Given the description of an element on the screen output the (x, y) to click on. 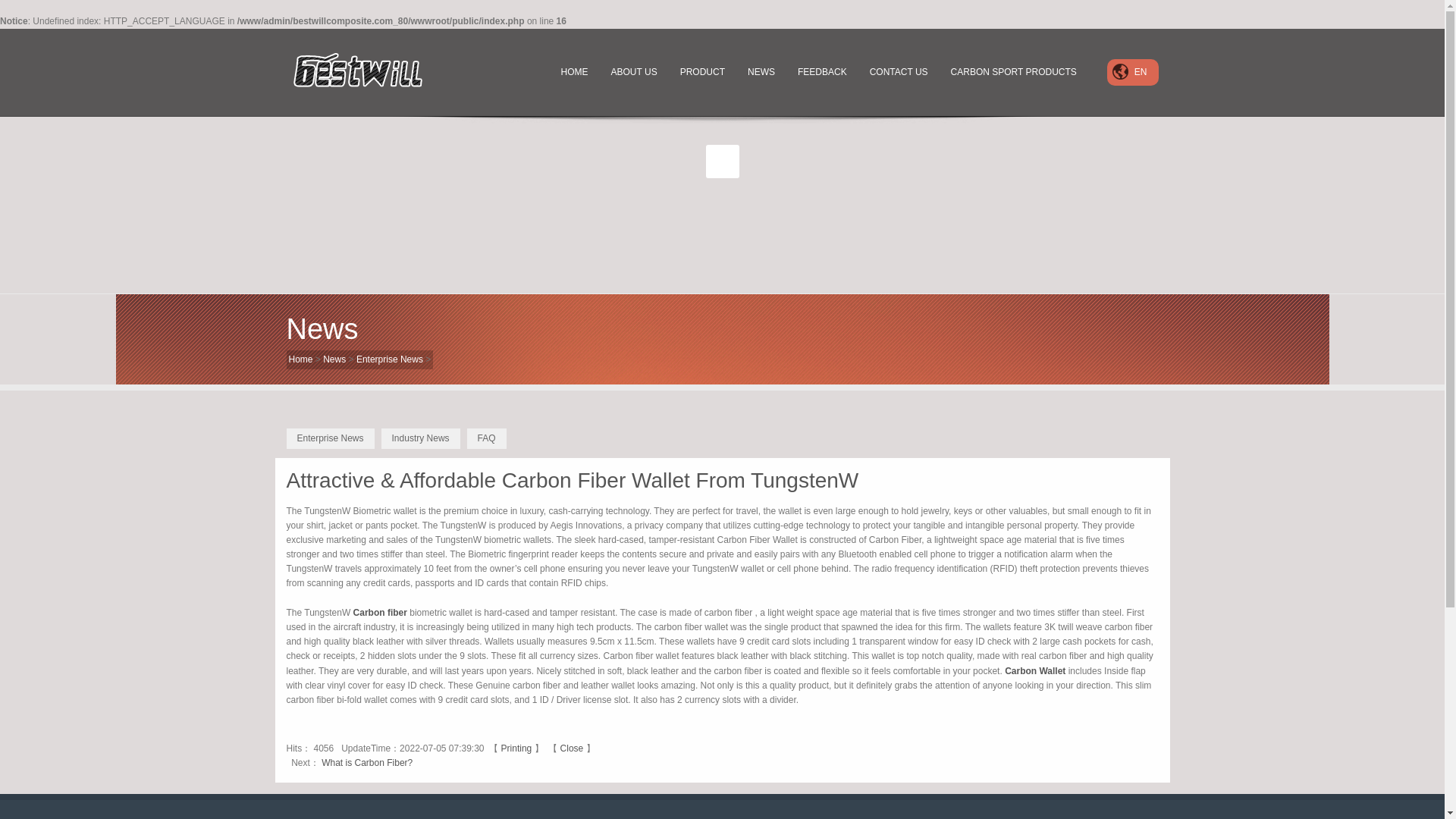
PRODUCT (702, 71)
ABOUT US (633, 71)
HOME (574, 71)
NEWS (761, 71)
About Us (633, 71)
Product (702, 71)
FEEDBACK (822, 71)
Bestwill Composite Co.,Ltd (365, 70)
Home (574, 71)
